Given the description of an element on the screen output the (x, y) to click on. 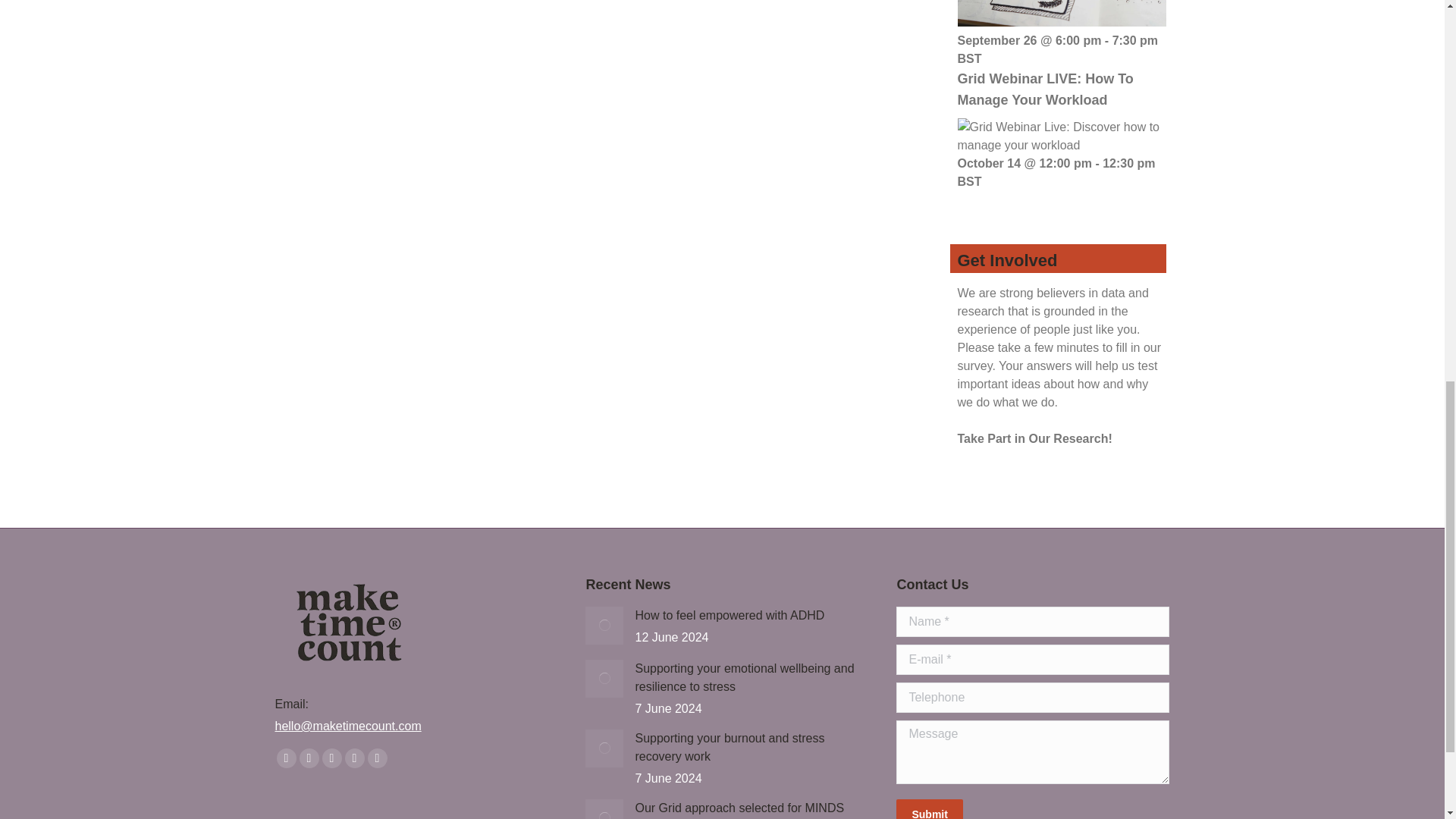
submit (1005, 809)
Facebook page opens in new window (285, 758)
YouTube page opens in new window (330, 758)
Instagram page opens in new window (376, 758)
X page opens in new window (308, 758)
Linkedin page opens in new window (353, 758)
